Given the description of an element on the screen output the (x, y) to click on. 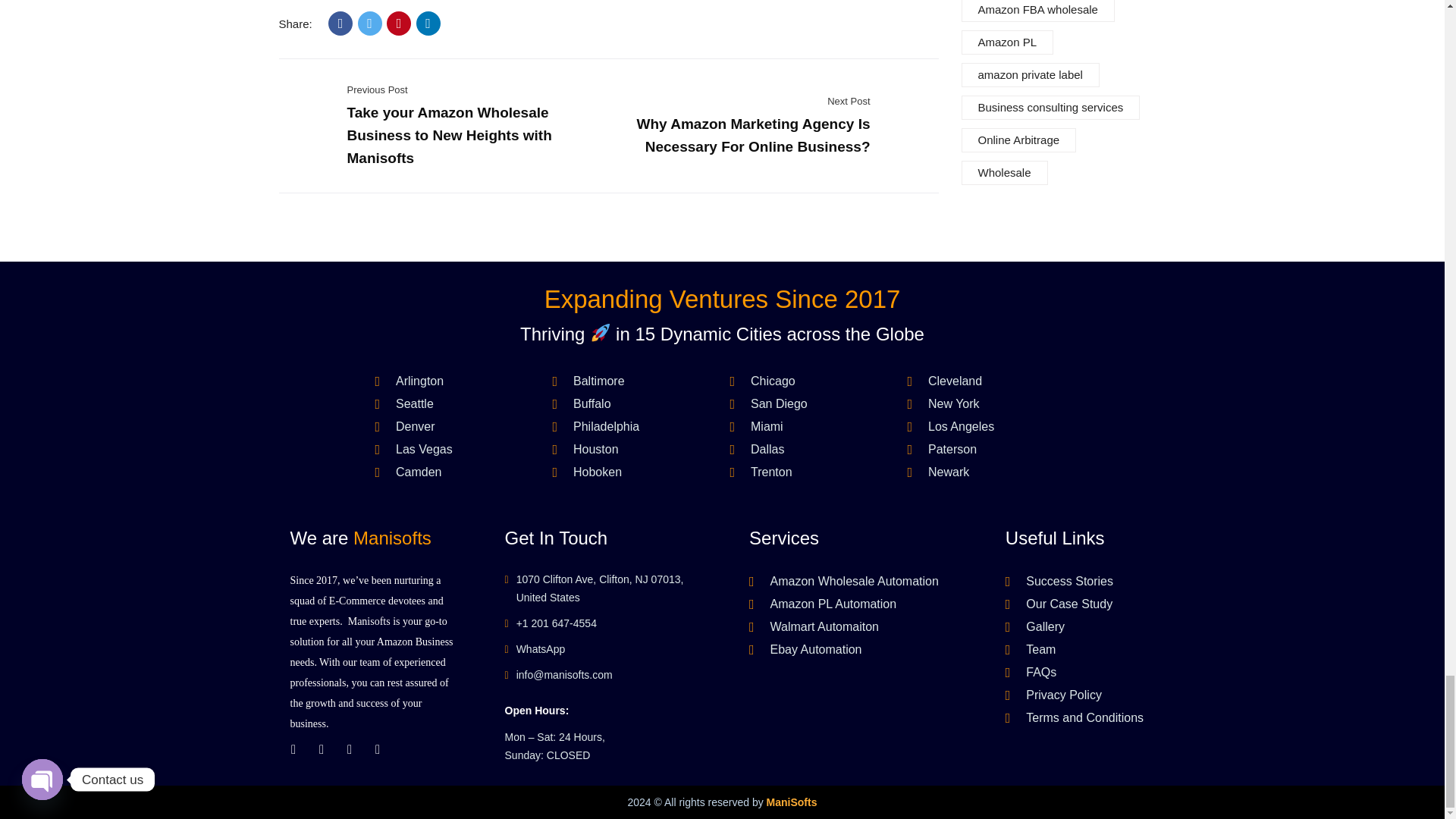
Pinterest (398, 23)
LinkedIn (428, 23)
Twitter (369, 23)
Facebook (340, 23)
